Given the description of an element on the screen output the (x, y) to click on. 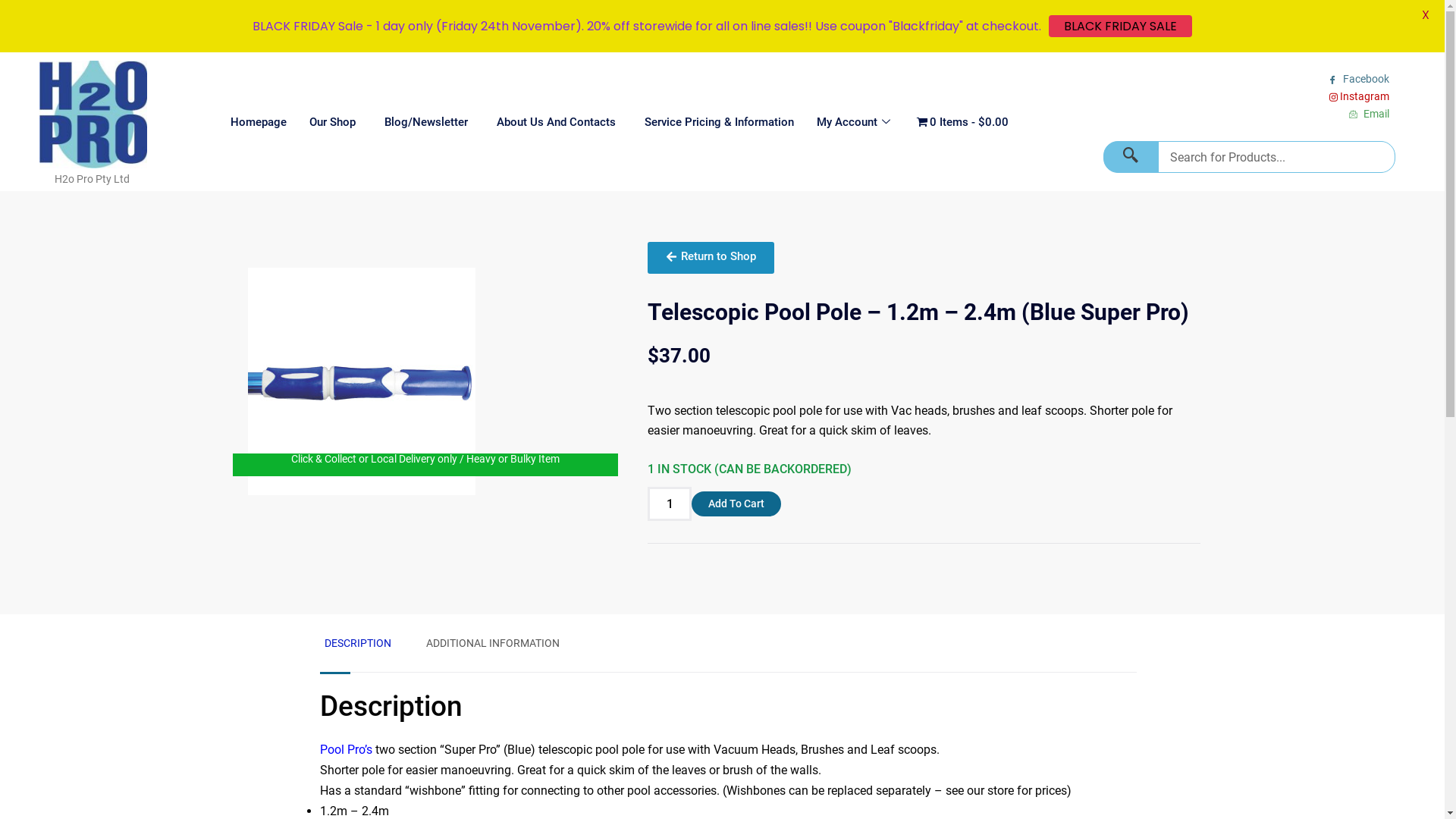
About Us And Contacts Element type: text (551, 121)
Email Element type: text (1253, 113)
My Account Element type: text (853, 121)
DESCRIPTION Element type: text (357, 642)
PP Super Pro Telepole Blue Element type: hover (361, 381)
Add To Cart Element type: text (736, 503)
ADDITIONAL INFORMATION Element type: text (492, 642)
Service Pricing & Information Element type: text (714, 121)
Return to Shop Element type: text (710, 257)
Product Thumbnail Element type: hover (255, 276)
Homepage Element type: text (256, 121)
Our Shop Element type: text (330, 121)
Blog/Newsletter Element type: text (421, 121)
Facebook Element type: text (1253, 78)
BLACK FRIDAY SALE Element type: text (1120, 26)
0 Items
$0.00 Element type: text (960, 121)
Instagram Element type: text (1253, 96)
